Given the description of an element on the screen output the (x, y) to click on. 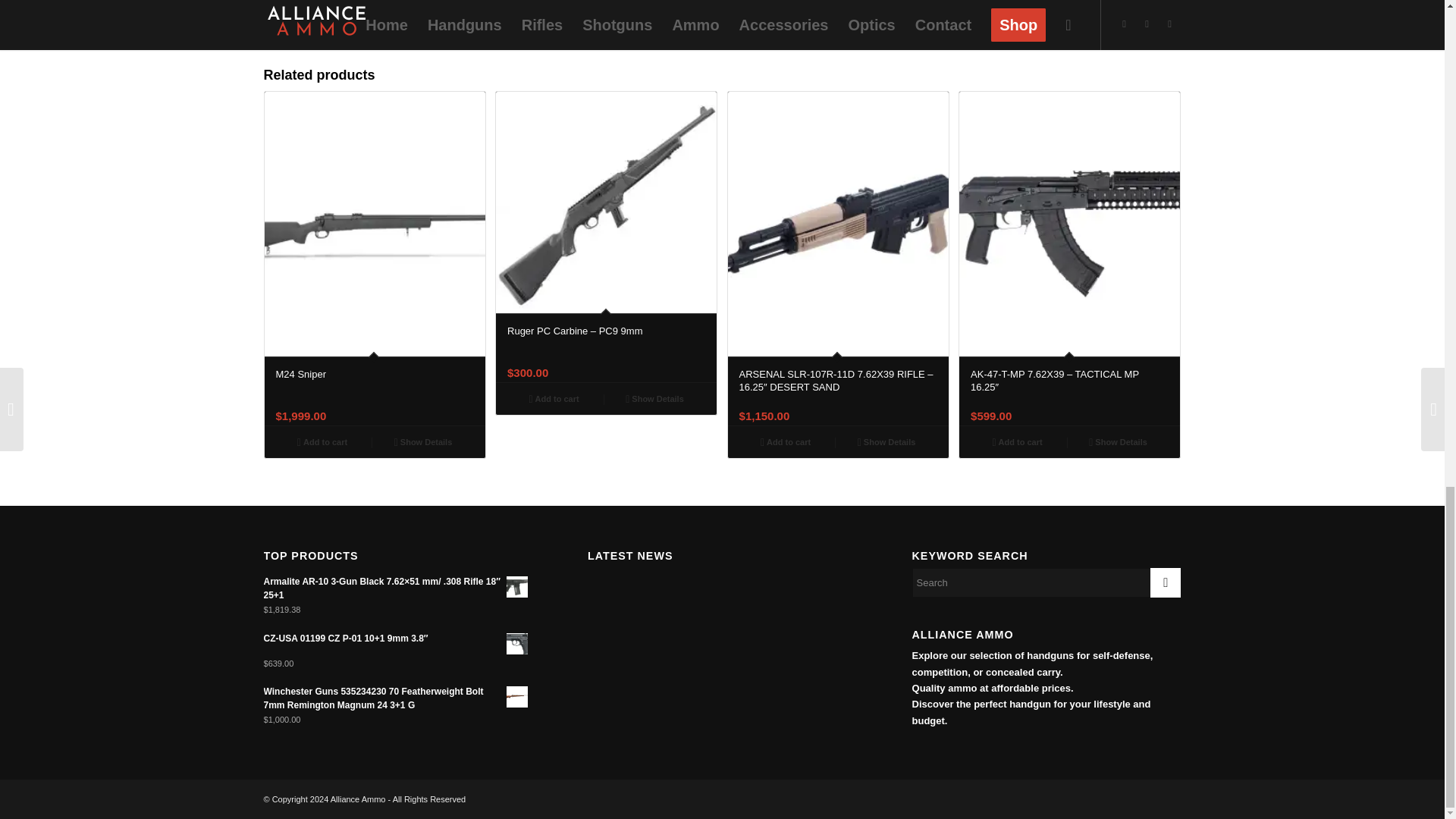
Show Details (654, 397)
Add to cart (553, 397)
Add to cart (785, 442)
Add to cart (321, 442)
Add to cart (1016, 442)
Show Details (886, 442)
Show Details (1118, 442)
Show Details (422, 442)
